Given the description of an element on the screen output the (x, y) to click on. 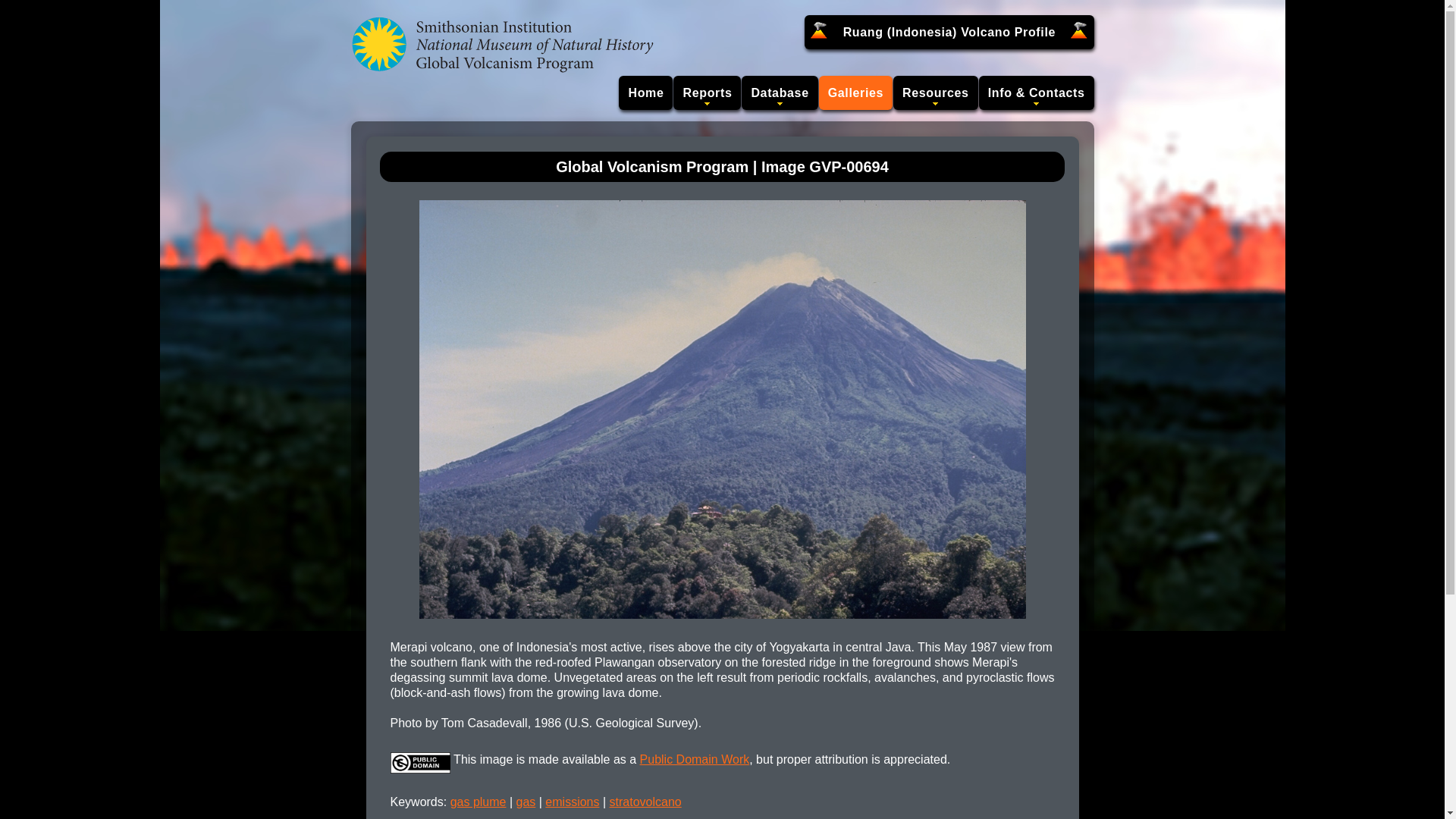
gas plume (477, 801)
Public Domain Work (694, 758)
Galleries (855, 92)
Reports (706, 92)
Home (645, 92)
Database (778, 92)
gas (525, 801)
Resources (935, 92)
stratovolcano (645, 801)
emissions (571, 801)
